Given the description of an element on the screen output the (x, y) to click on. 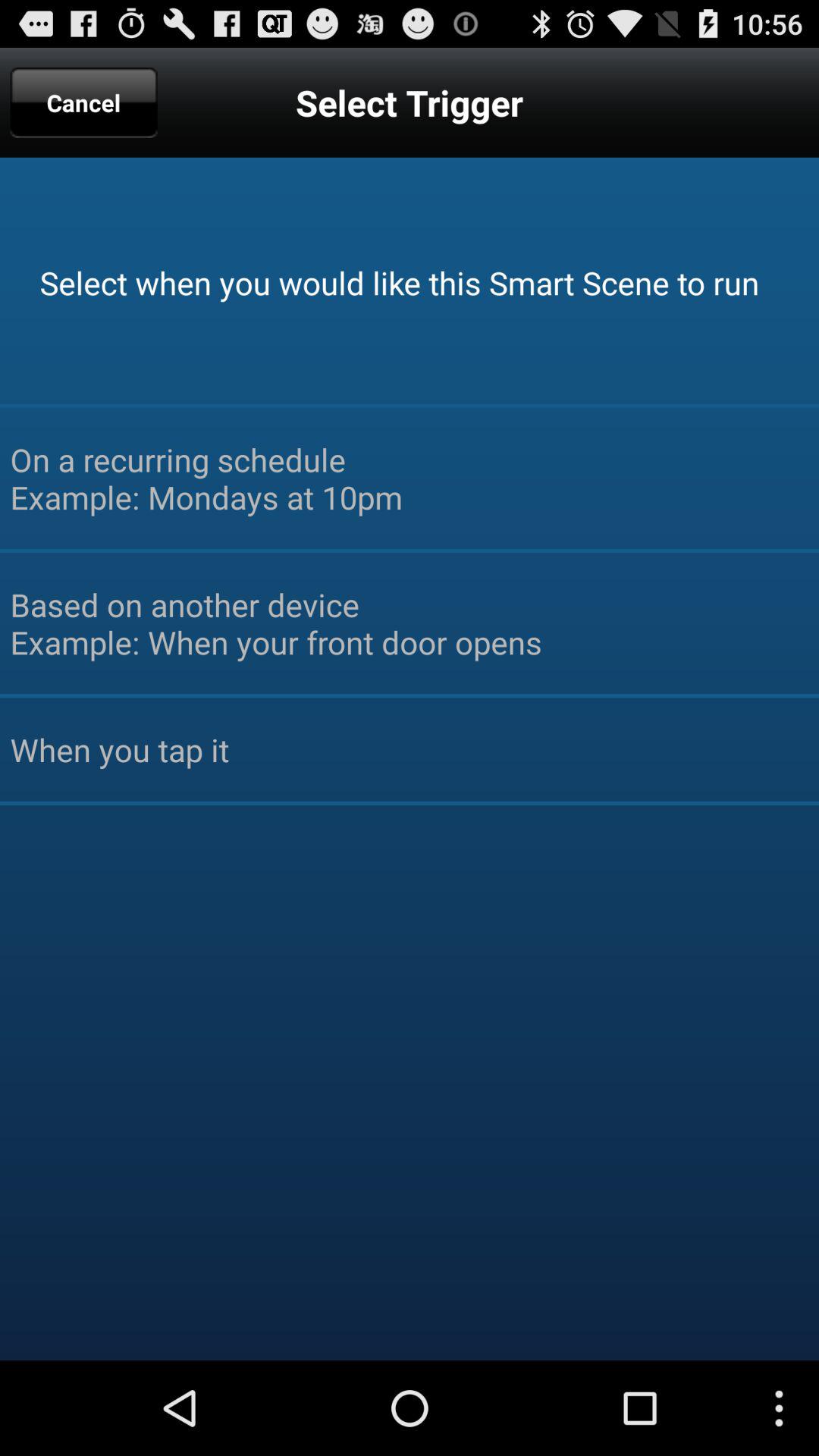
tap icon above when you tap icon (409, 622)
